Given the description of an element on the screen output the (x, y) to click on. 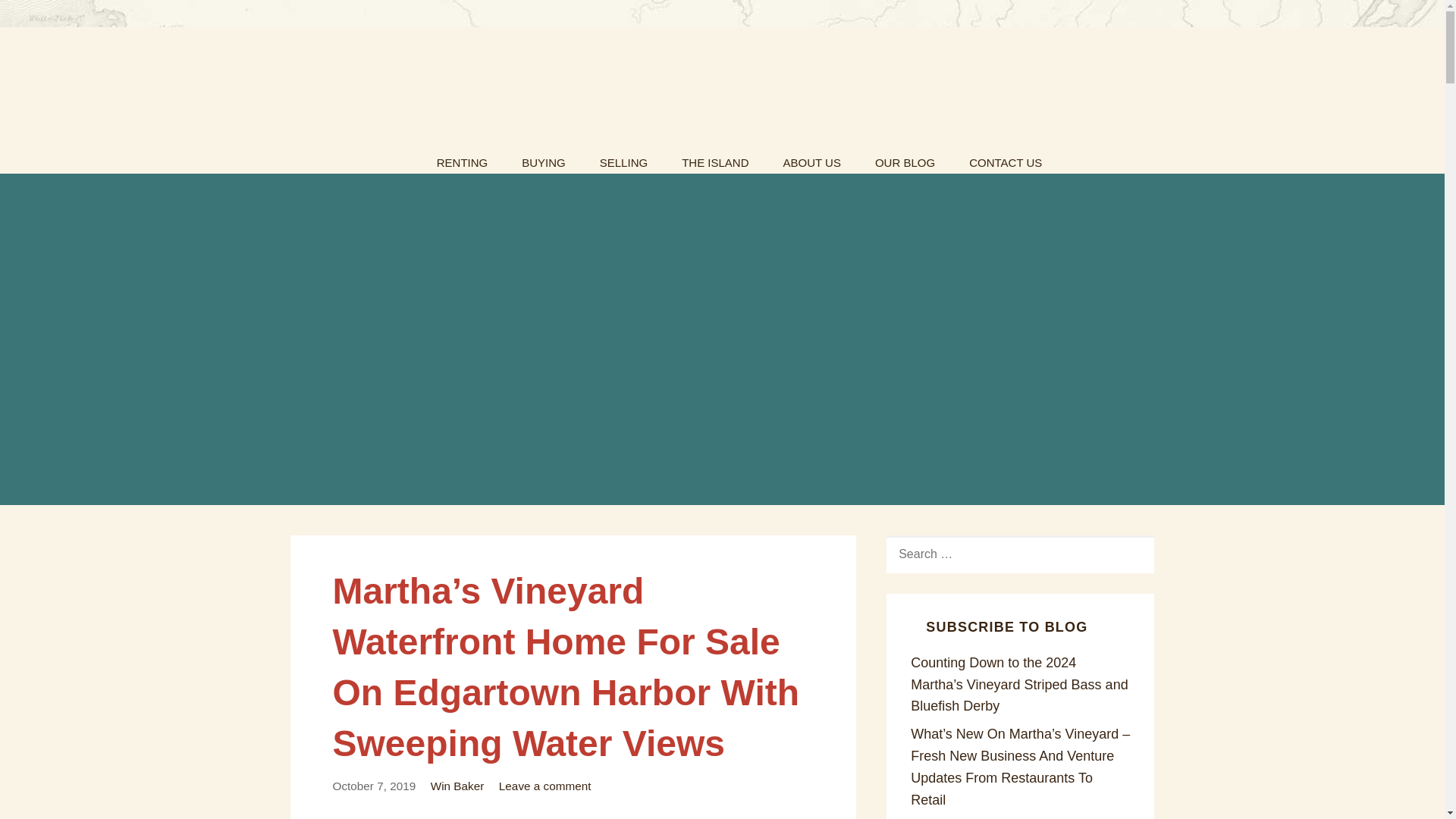
OUR BLOG (905, 157)
Leave a comment (545, 785)
SELLING (623, 157)
RENTING (462, 157)
THE ISLAND (714, 157)
Win Baker (457, 785)
BUYING (543, 157)
CONTACT US (1005, 157)
ABOUT US (812, 157)
Posts by Win Baker (457, 785)
